Given the description of an element on the screen output the (x, y) to click on. 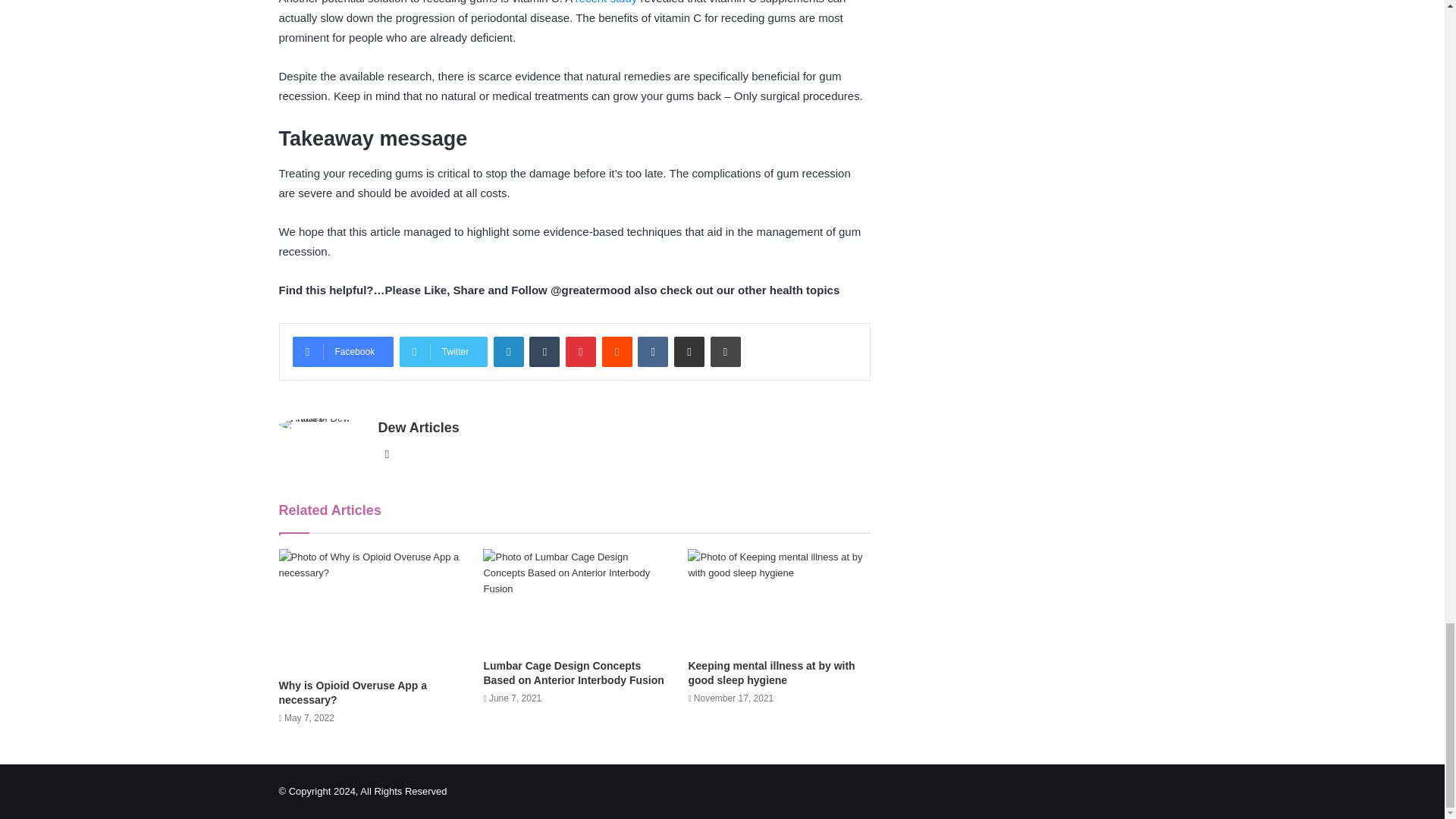
Tumblr (544, 351)
Reddit (616, 351)
VKontakte (652, 351)
VKontakte (652, 351)
Dew Articles (417, 427)
Share via Email (689, 351)
Pinterest (580, 351)
Reddit (616, 351)
LinkedIn (508, 351)
Print (725, 351)
Share via Email (689, 351)
Twitter (442, 351)
Website (386, 454)
LinkedIn (508, 351)
Facebook (343, 351)
